Given the description of an element on the screen output the (x, y) to click on. 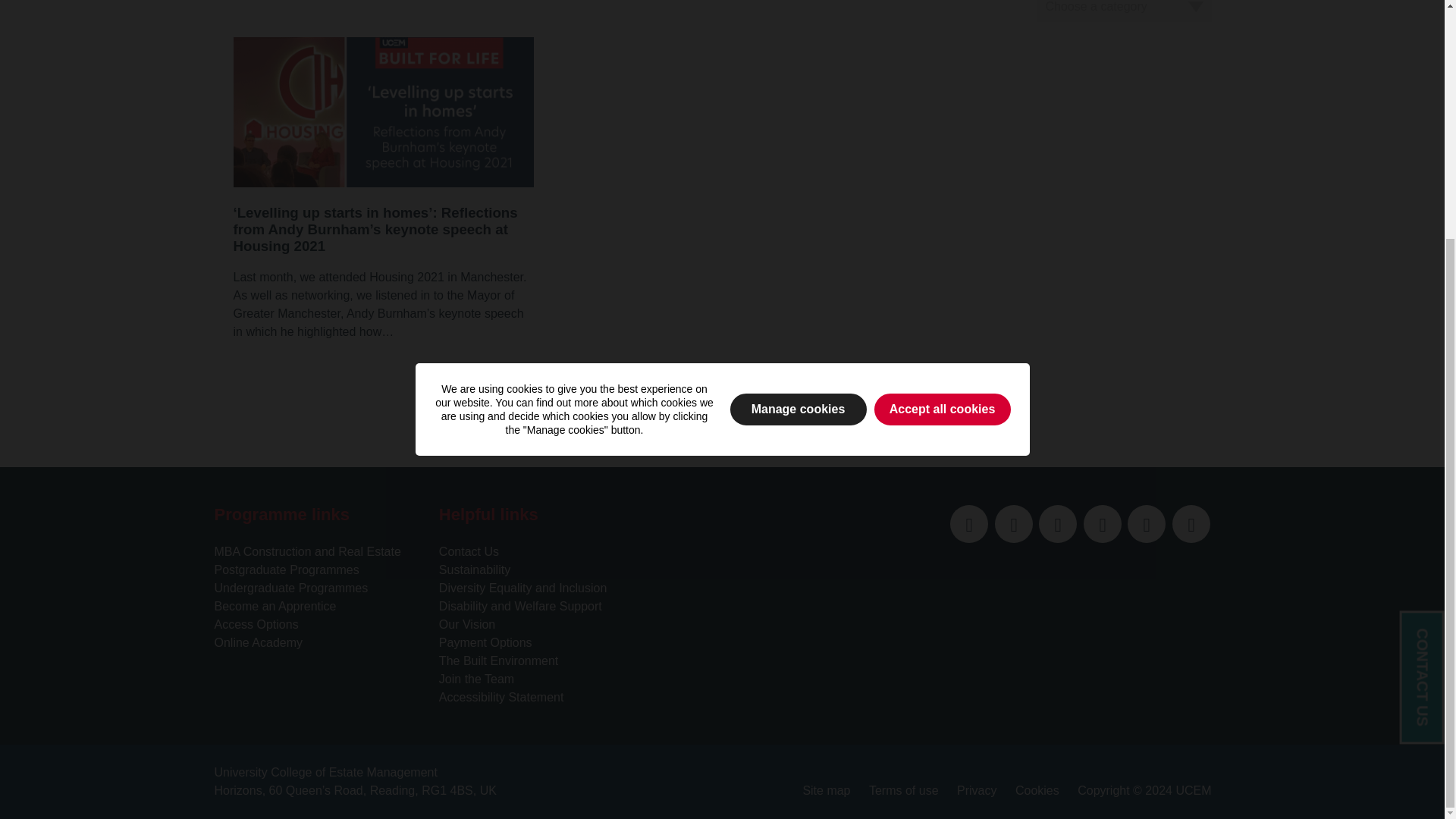
View our YouTube channel (1102, 523)
View our LinkedIn page (1013, 523)
View our Facebook page (1058, 523)
View our Instagram page (1146, 523)
Manage cookies (797, 81)
View our TikTok page (1190, 523)
View our Twitter page (969, 523)
Accept all cookies (941, 81)
